Given the description of an element on the screen output the (x, y) to click on. 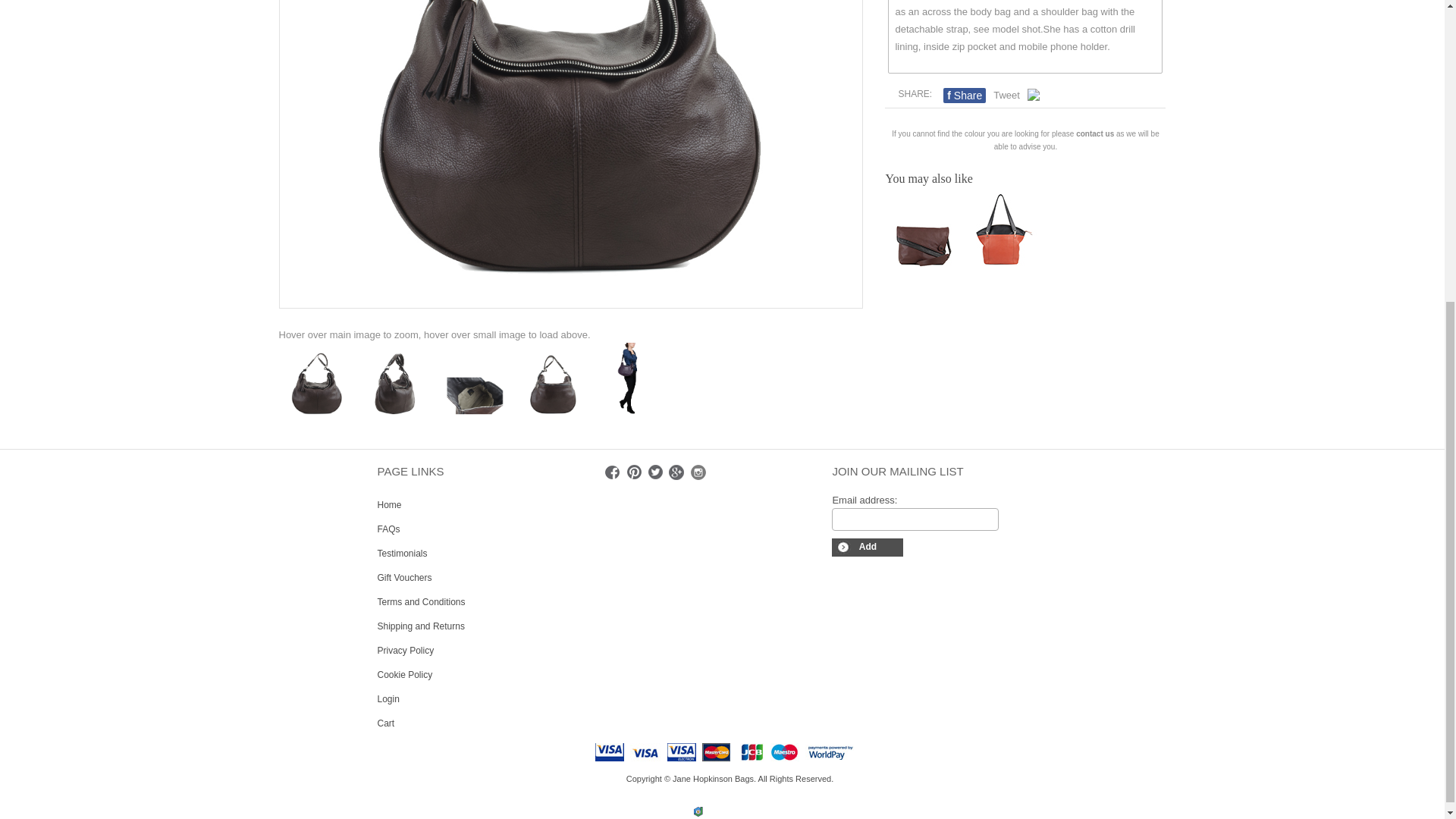
Matilda Brown Leather Shoulder Bag (317, 380)
Add (866, 547)
Matilda Brown Leather Shoulder Bag (551, 380)
Matilda Brown Leather Shoulder Bag (394, 380)
Matilda Brown Leather Shoulder Bag (630, 380)
Matilda Brown Leather Shoulder Bag (473, 380)
Payment Processing - WorldPay - Opens in new browser window (834, 751)
